Given the description of an element on the screen output the (x, y) to click on. 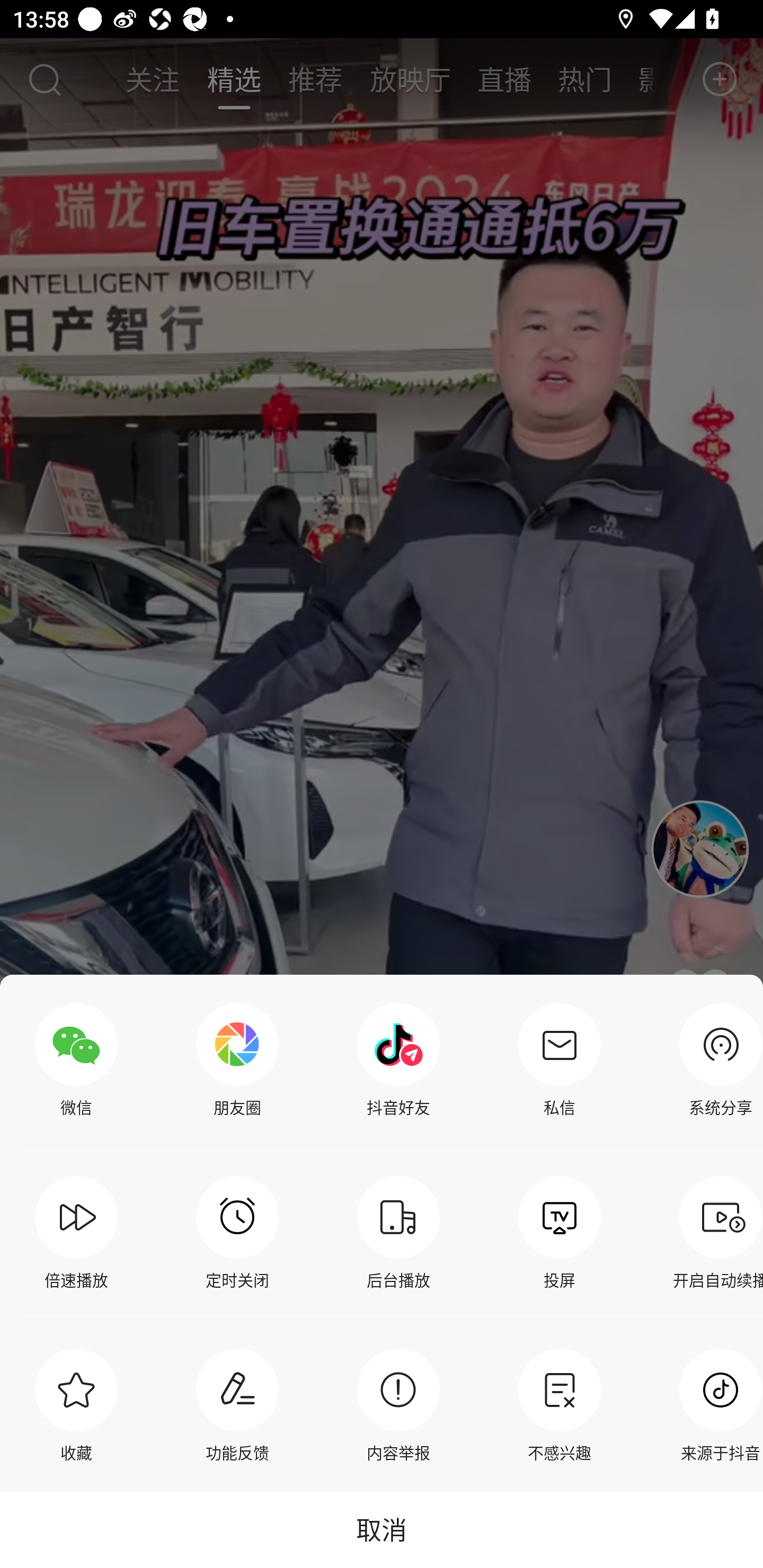
微信 (76, 1060)
朋友圈 (237, 1060)
抖音好友 (398, 1060)
私信 (559, 1060)
系统分享 (716, 1060)
倍速播放 (76, 1232)
定时关闭 (237, 1232)
后台播放 (398, 1232)
投屏 (559, 1232)
开启自动续播 (716, 1232)
收藏 (76, 1405)
功能反馈 (237, 1405)
内容举报 (398, 1405)
不感兴趣 (559, 1405)
来源于抖音 (716, 1405)
取消 (381, 1529)
